Given the description of an element on the screen output the (x, y) to click on. 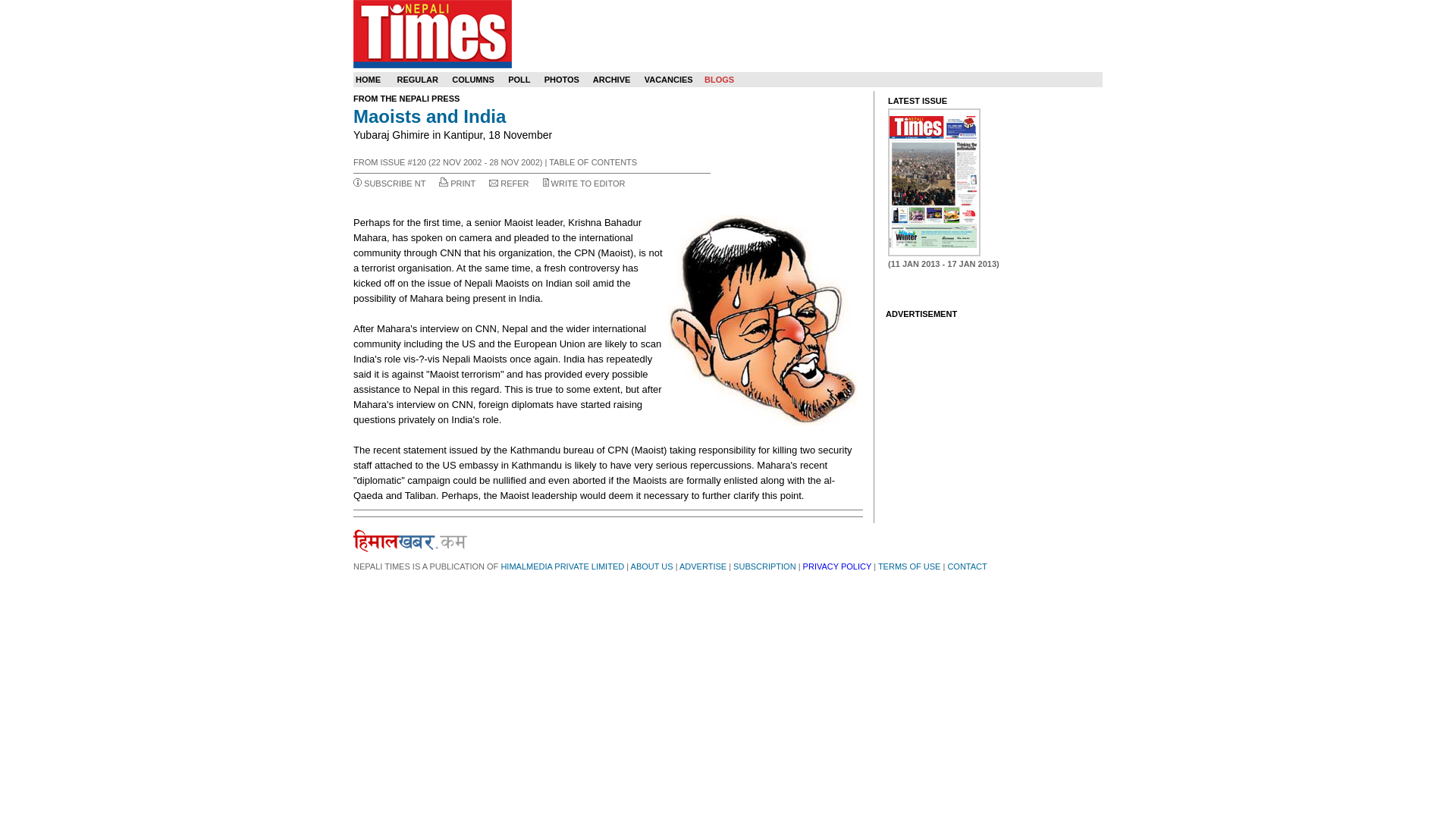
PHOTOS (561, 79)
PRINT (463, 183)
REFER (514, 183)
BLOGS (718, 79)
ABOUT US (651, 565)
COLUMNS (473, 79)
REGULAR (417, 79)
CONTACT (967, 565)
HIMALMEDIA PRIVATE LIMITED (562, 565)
HOME (367, 79)
